Given the description of an element on the screen output the (x, y) to click on. 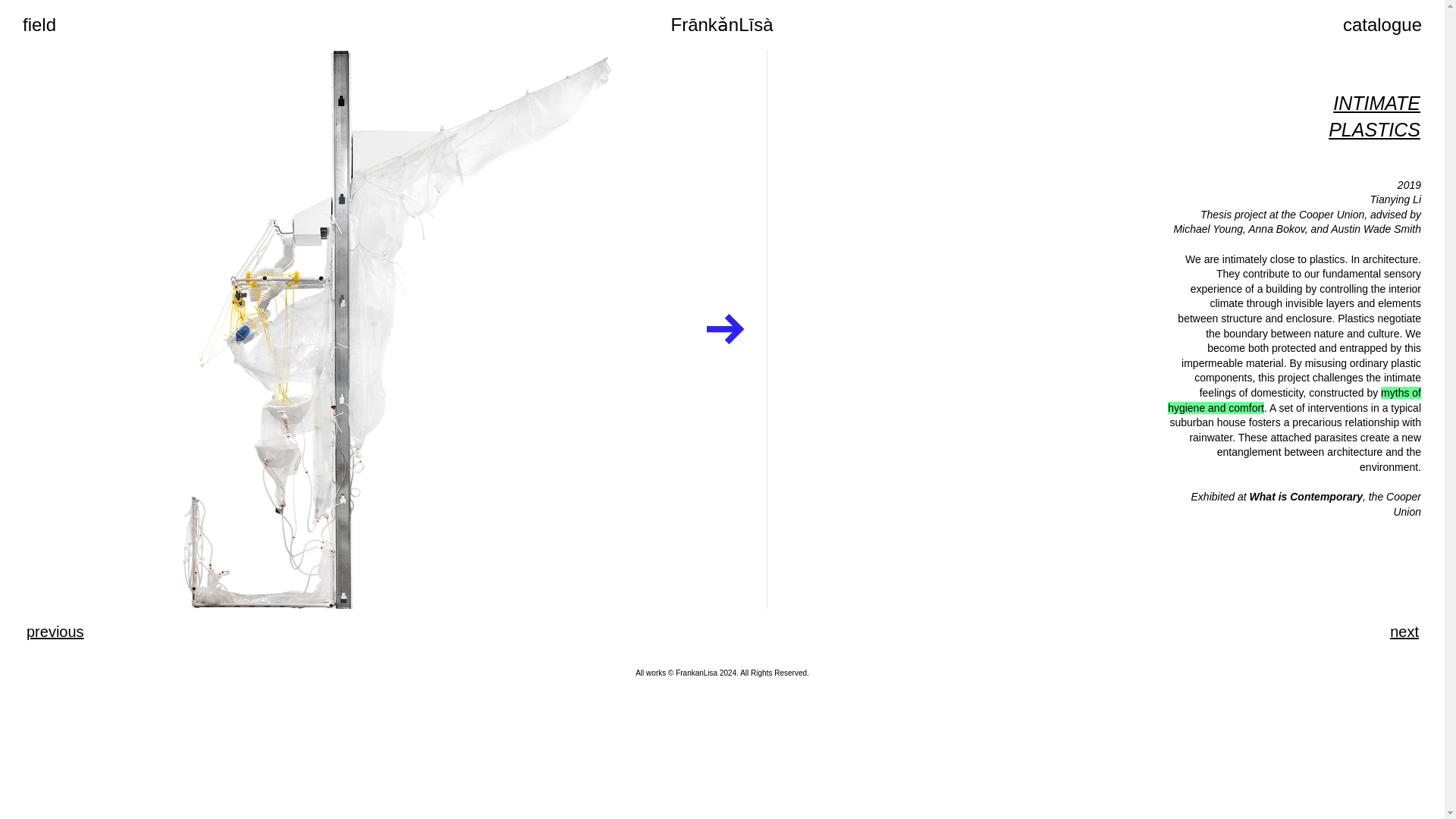
previous (55, 631)
next (1404, 631)
field (39, 24)
catalogue (1382, 24)
